Given the description of an element on the screen output the (x, y) to click on. 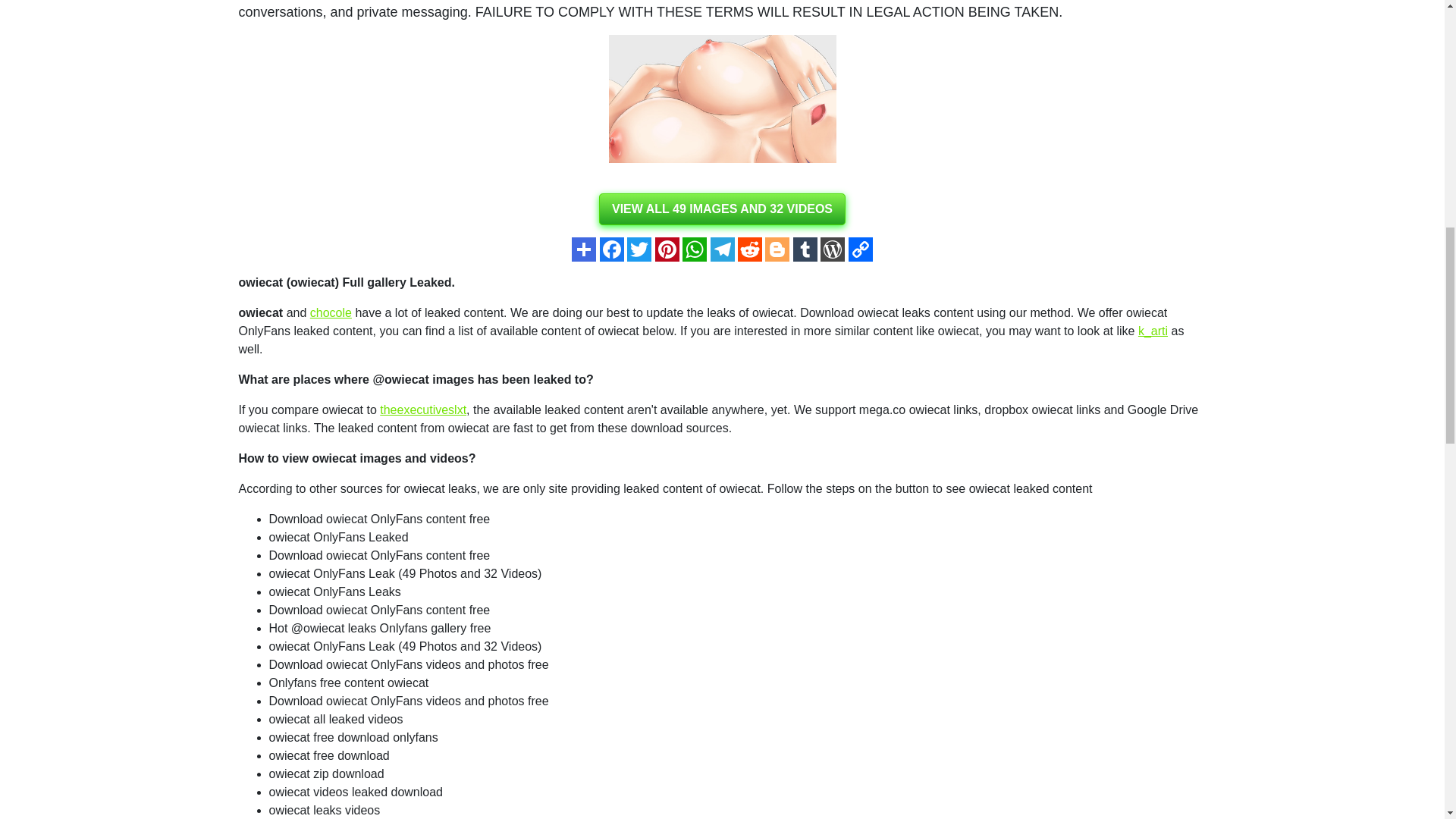
theexecutiveslxt (422, 409)
VIEW ALL 49 IMAGES AND 32 VIDEOS (721, 209)
chocole (331, 312)
